Given the description of an element on the screen output the (x, y) to click on. 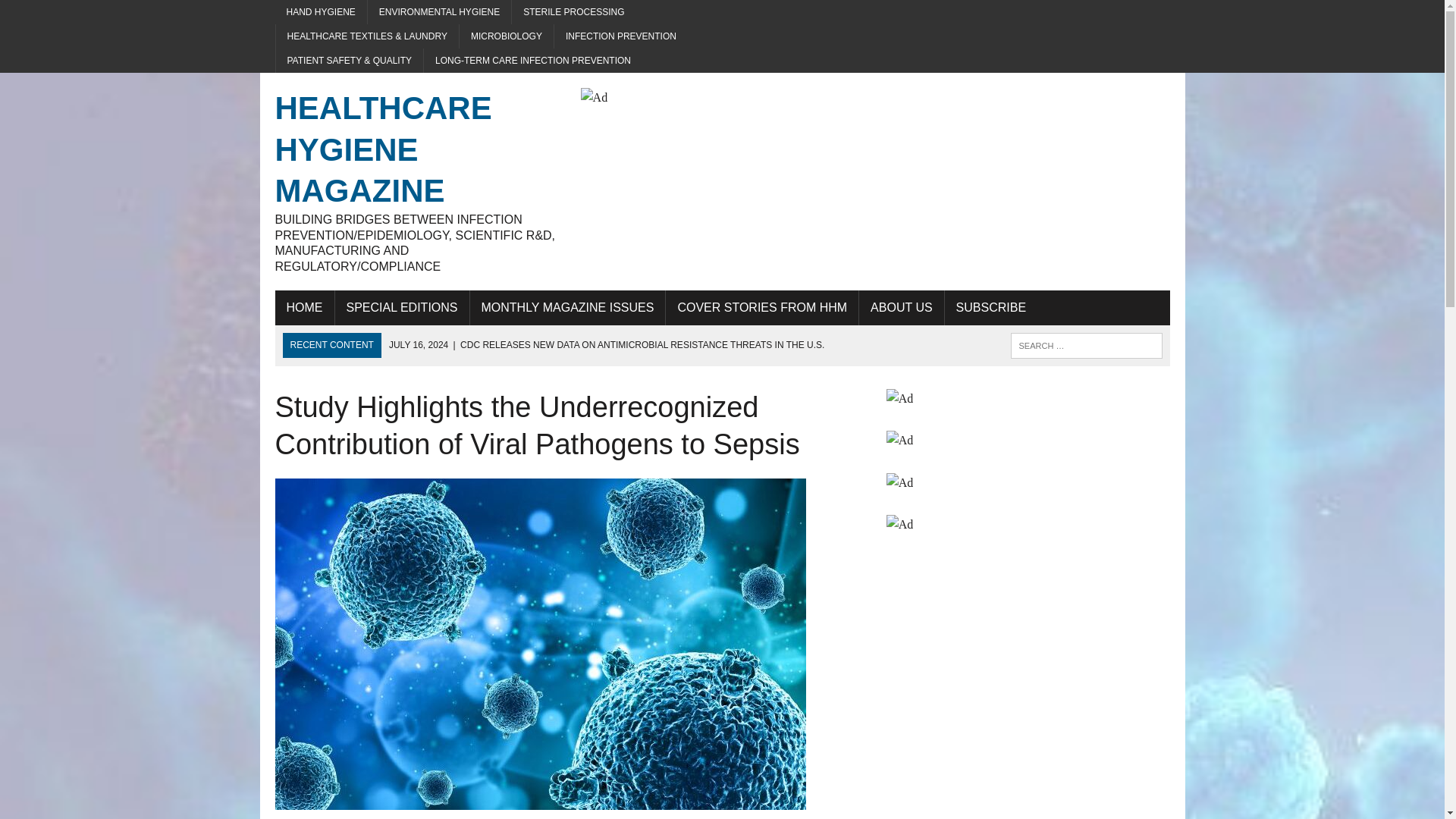
MICROBIOLOGY (506, 36)
COVER STORIES FROM HHM (762, 307)
SUBSCRIBE (990, 307)
HOME (304, 307)
HAND HYGIENE (320, 12)
INFECTION PREVENTION (620, 36)
STERILE PROCESSING (573, 12)
Search (75, 14)
ABOUT US (901, 307)
MONTHLY MAGAZINE ISSUES (567, 307)
SPECIAL EDITIONS (401, 307)
ENVIRONMENTAL HYGIENE (439, 12)
LONG-TERM CARE INFECTION PREVENTION (532, 60)
Healthcare Hygiene magazine (416, 181)
